Given the description of an element on the screen output the (x, y) to click on. 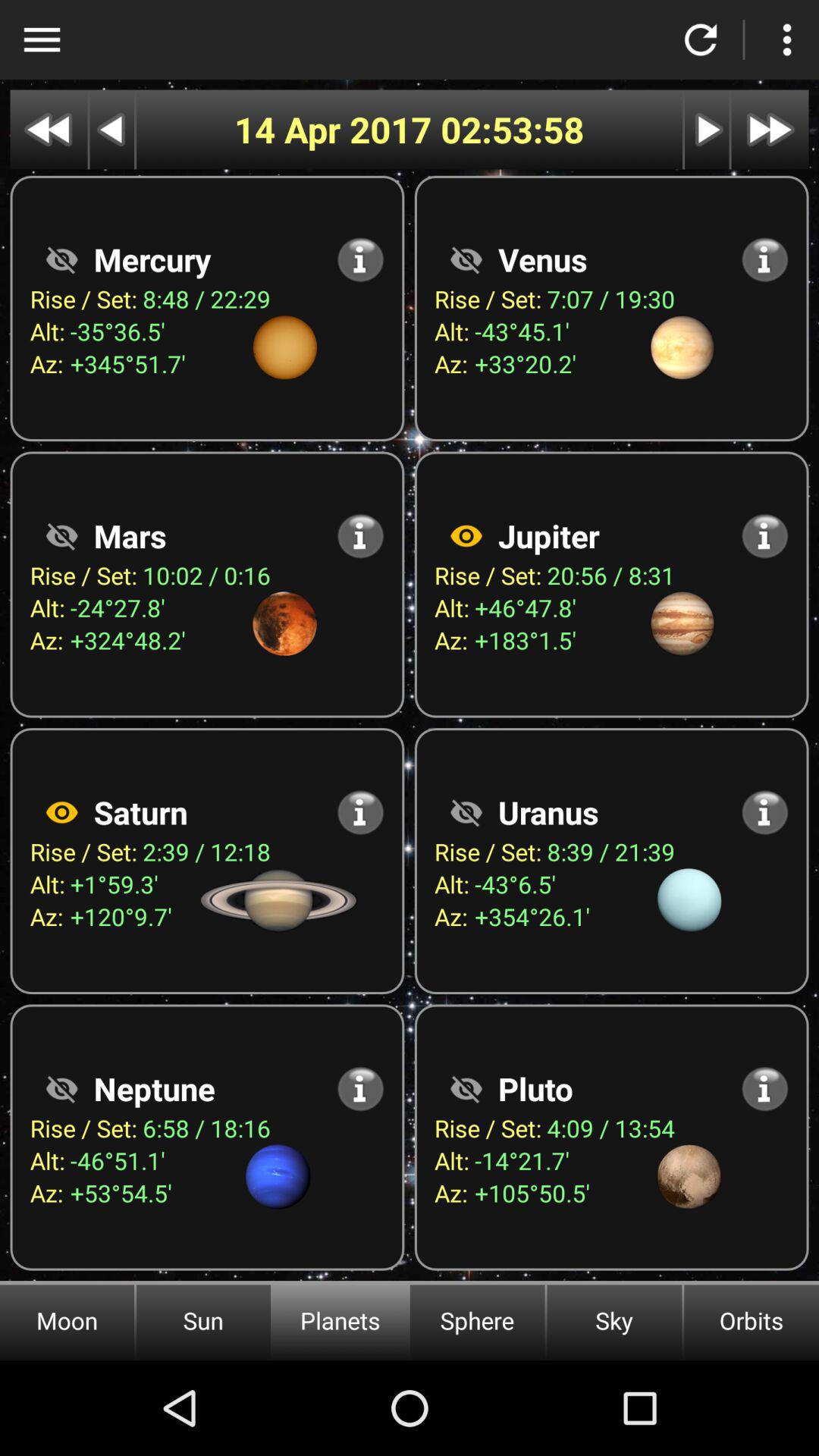
additional information about venus (764, 259)
